Given the description of an element on the screen output the (x, y) to click on. 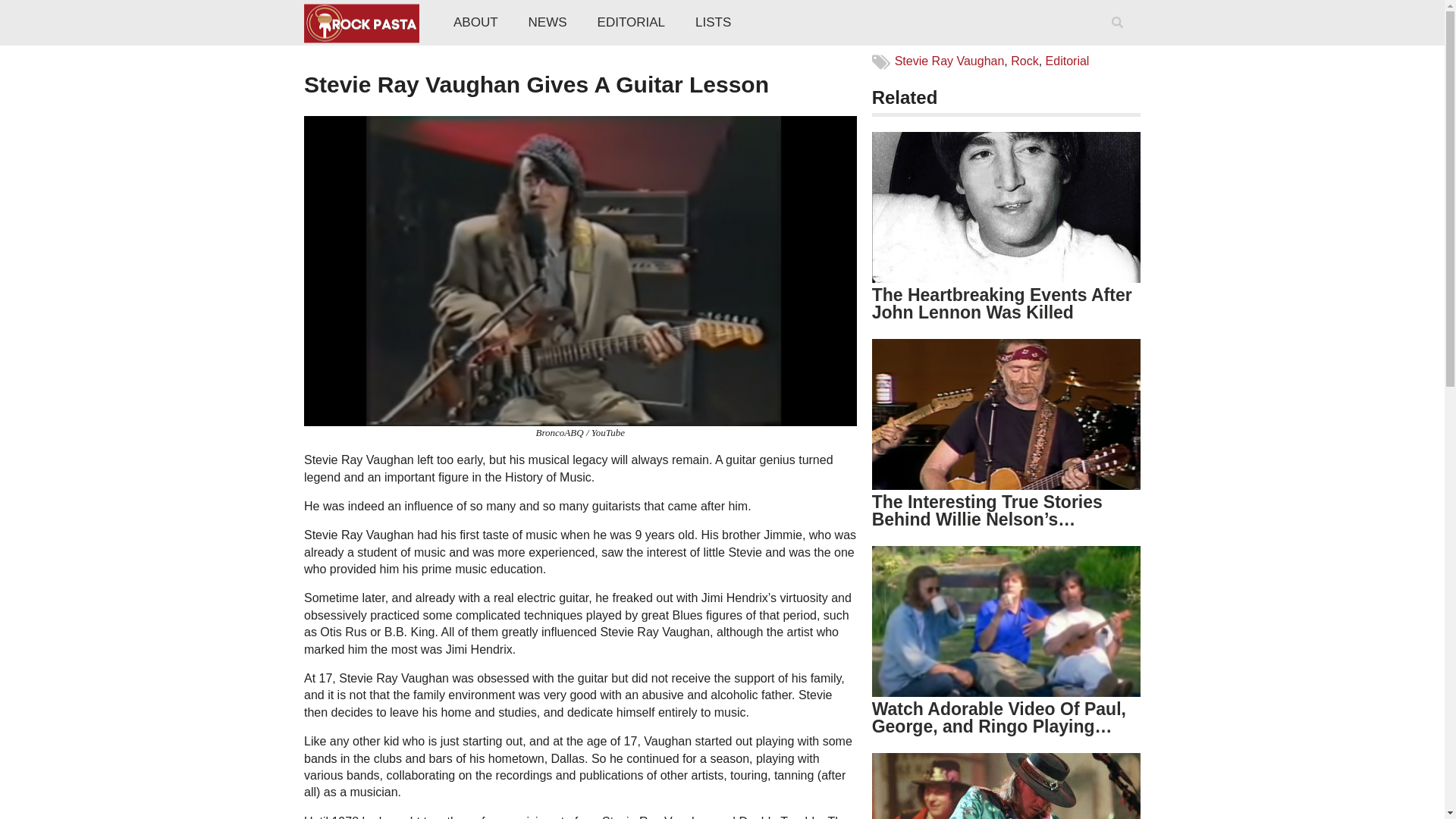
NEWS (547, 22)
Stevie Ray Vaughan (949, 60)
ABOUT (475, 22)
Search (1120, 42)
Rock (1024, 60)
LISTS (712, 22)
Editorial (1067, 60)
Search (1120, 42)
EDITORIAL (630, 22)
Search (1120, 42)
